Given the description of an element on the screen output the (x, y) to click on. 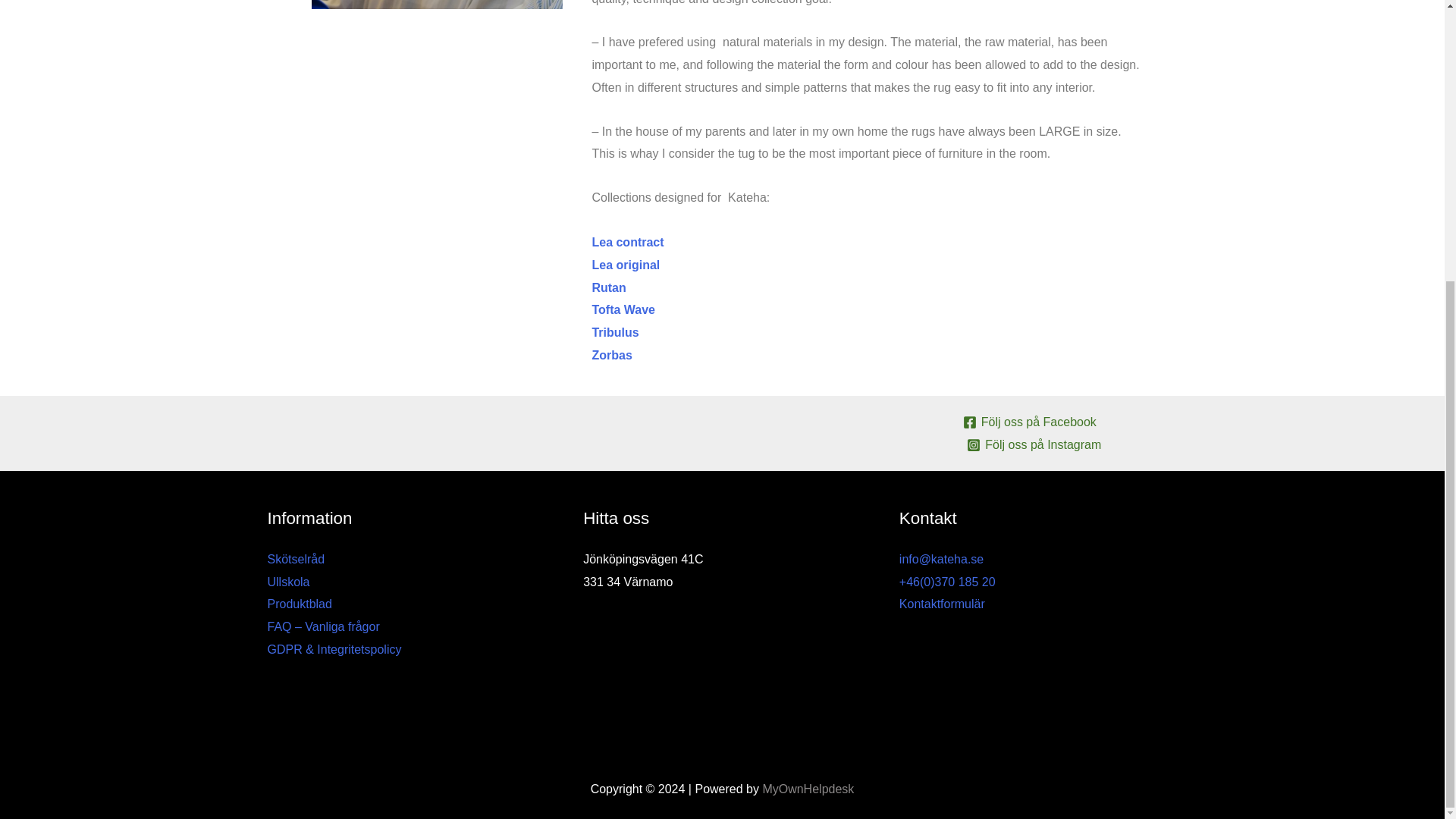
Lea original (625, 264)
Tofta Wave (623, 309)
Lea contract (627, 241)
Tribulus (615, 332)
Zorbas (611, 354)
Rutan (608, 287)
